Given the description of an element on the screen output the (x, y) to click on. 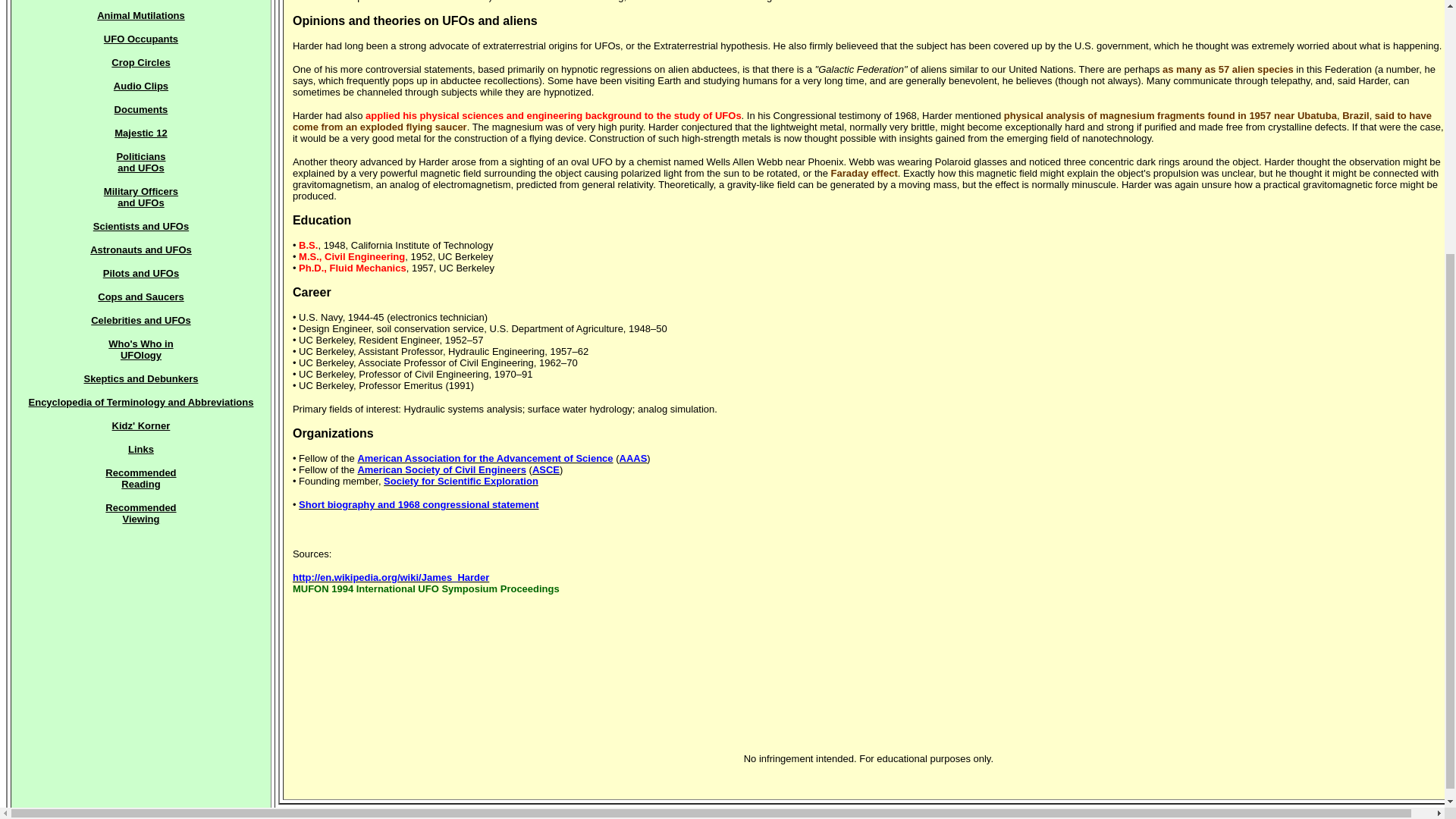
UFO Occupants (140, 39)
Majestic 12 (141, 132)
Animal Mutilations (140, 15)
Skeptics and Debunkers (140, 378)
AAAS (633, 458)
Audio Clips (140, 349)
Cops and Saucers (140, 196)
